Given the description of an element on the screen output the (x, y) to click on. 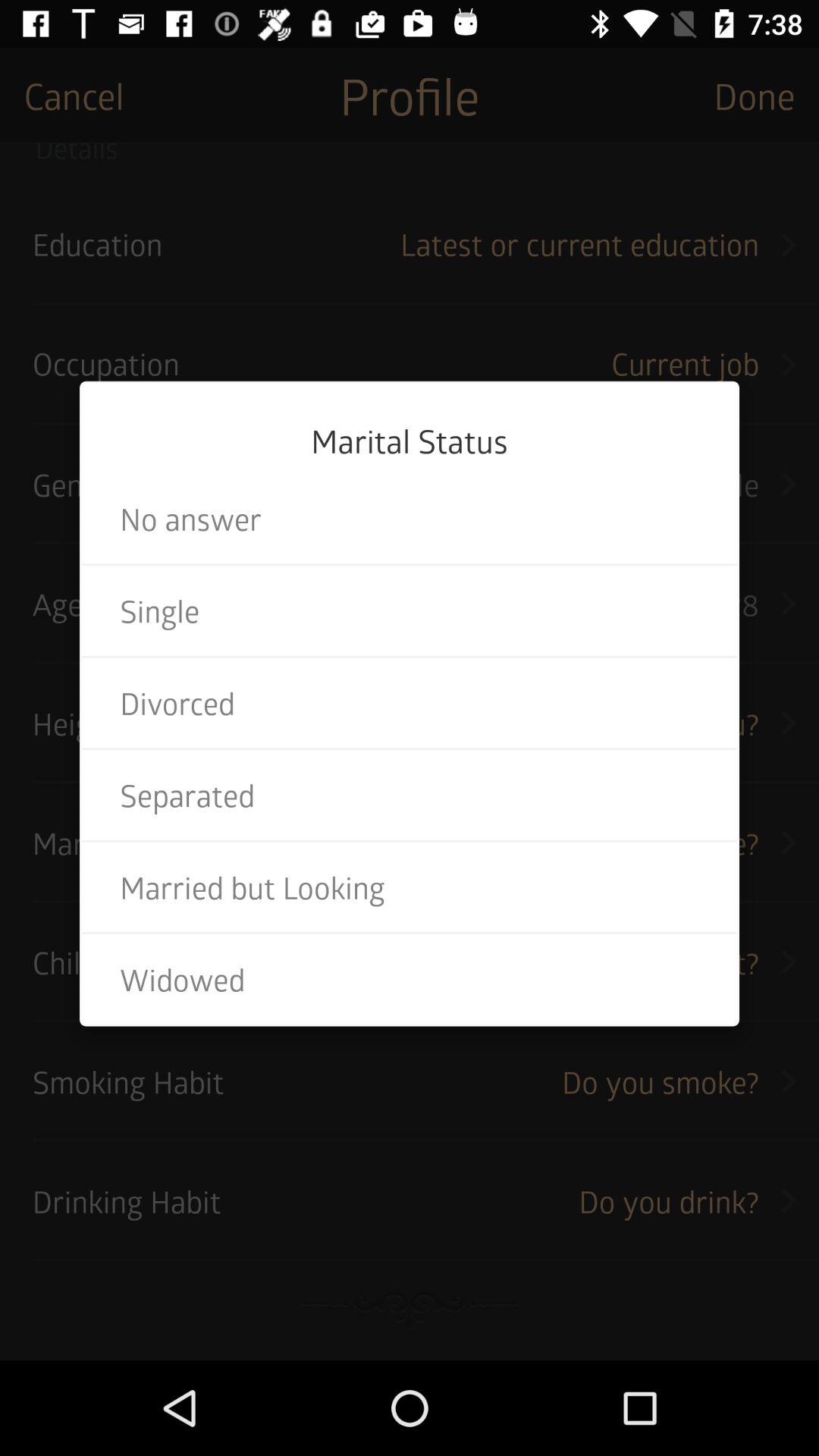
jump to the married but looking item (409, 887)
